Given the description of an element on the screen output the (x, y) to click on. 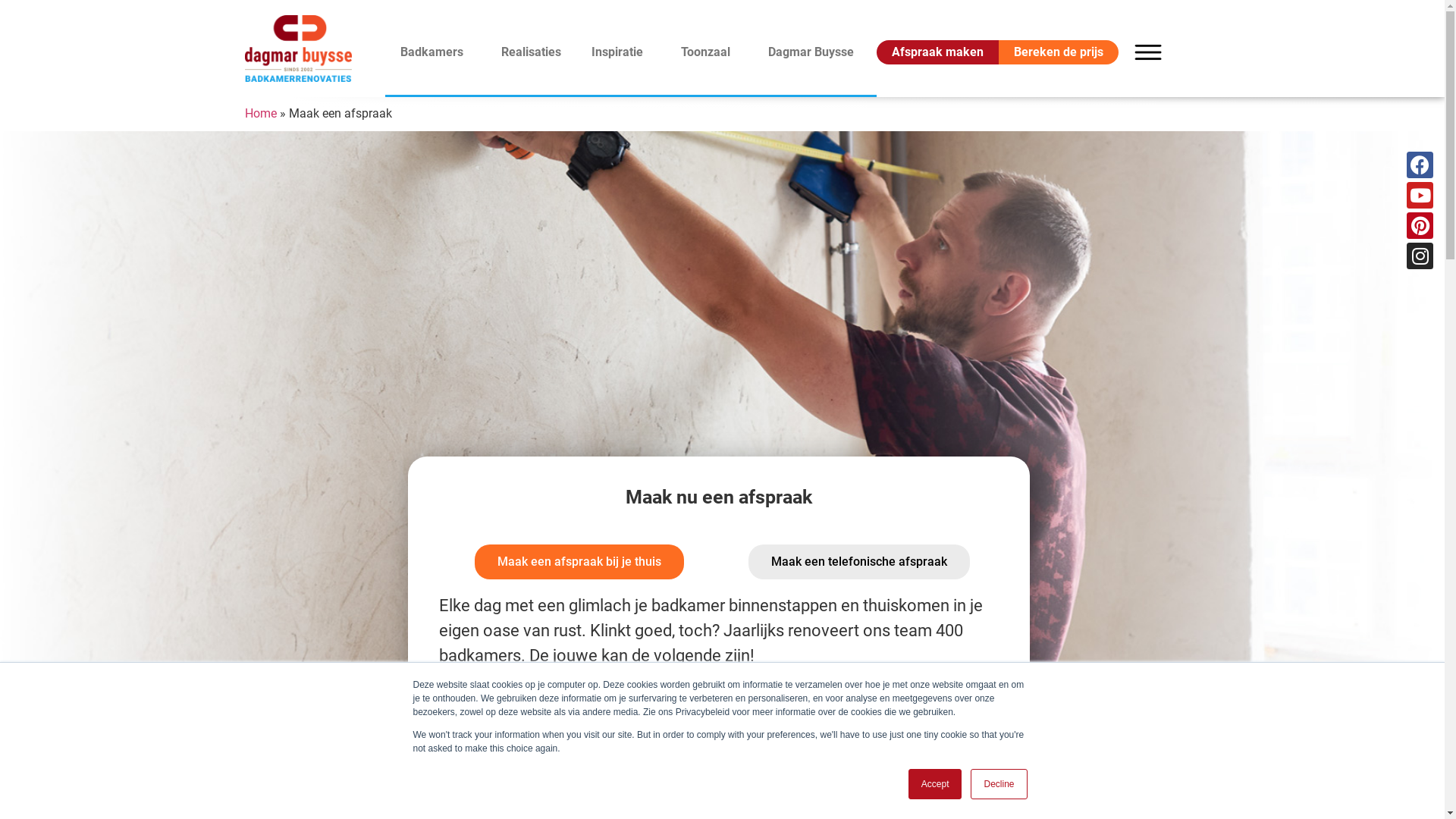
Dagmar Buysse Element type: text (814, 52)
Badkamers Element type: text (435, 52)
Afspraak maken Element type: text (937, 52)
Accept Element type: text (935, 783)
Toonzaal Element type: text (709, 52)
Inspiratie Element type: text (620, 52)
Maak een afspraak bij je thuis Element type: text (579, 561)
Maak een telefonische afspraak Element type: text (858, 561)
Realisaties Element type: text (531, 52)
Home Element type: text (260, 113)
Decline Element type: text (998, 783)
Bereken de prijs Element type: text (1058, 52)
